Given the description of an element on the screen output the (x, y) to click on. 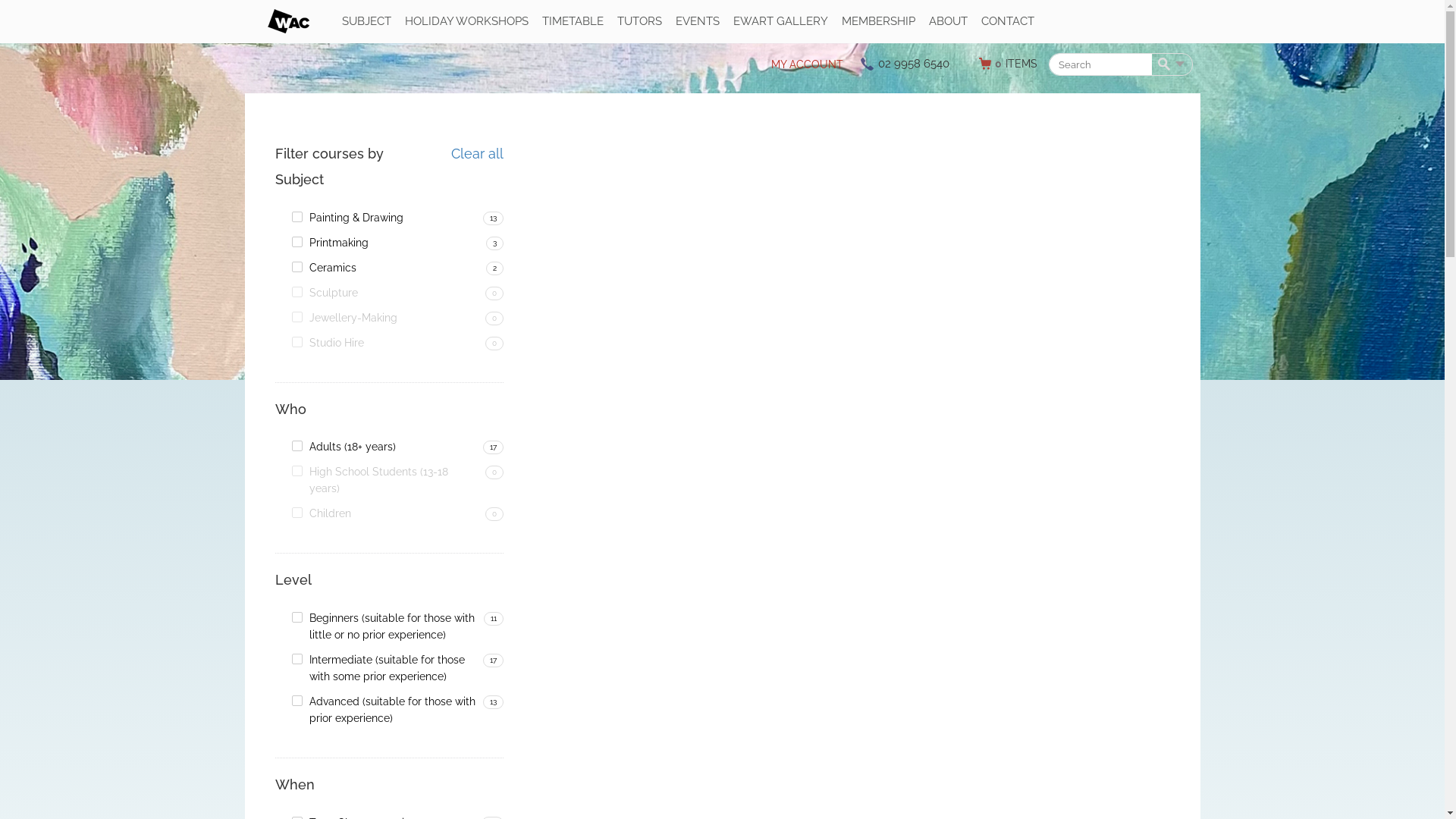
ABOUT Element type: text (947, 21)
Search Element type: text (1163, 64)
MY ACCOUNT Element type: text (806, 64)
HOLIDAY WORKSHOPS Element type: text (466, 21)
Clear all Element type: text (476, 153)
MEMBERSHIP Element type: text (878, 21)
TIMETABLE Element type: text (571, 21)
SUBJECT Element type: text (365, 21)
TUTORS Element type: text (639, 21)
EWART GALLERY Element type: text (779, 21)
EVENTS Element type: text (696, 21)
CONTACT Element type: text (1007, 21)
More options Element type: text (1179, 64)
02 9958 6540 Element type: text (913, 63)
